Given the description of an element on the screen output the (x, y) to click on. 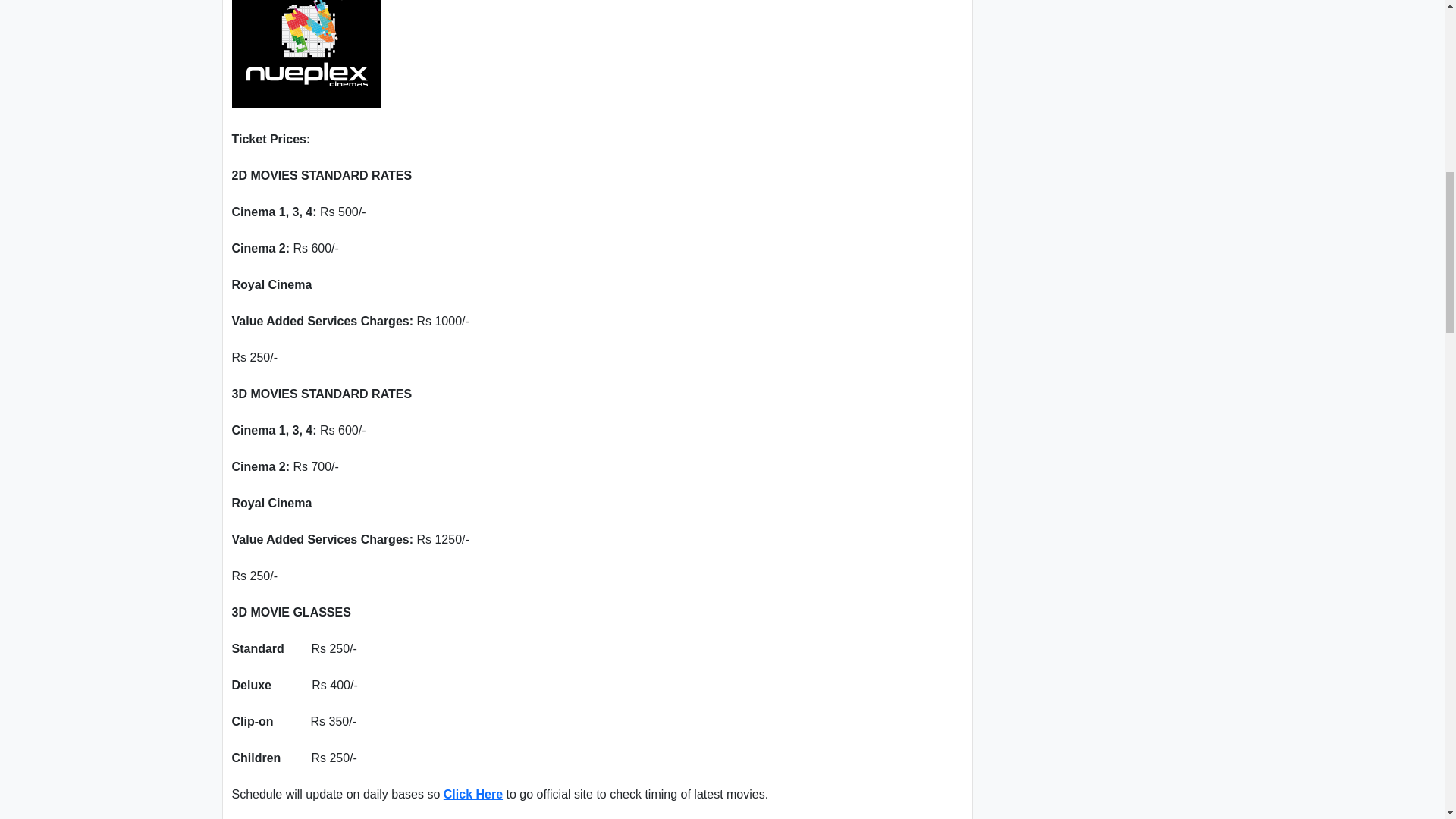
Click Here (473, 793)
